Given the description of an element on the screen output the (x, y) to click on. 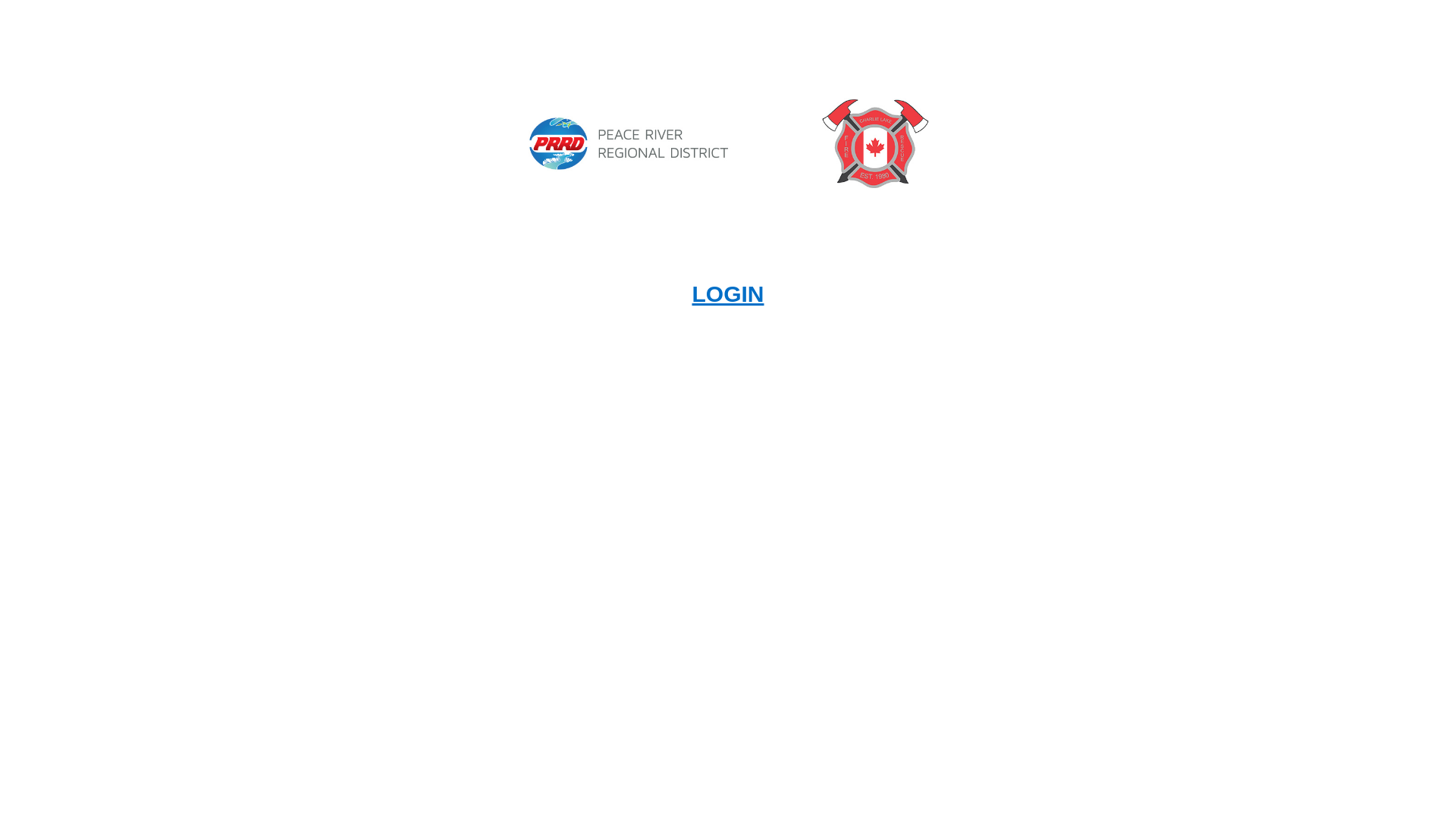
LOGIN Element type: text (727, 293)
